Given the description of an element on the screen output the (x, y) to click on. 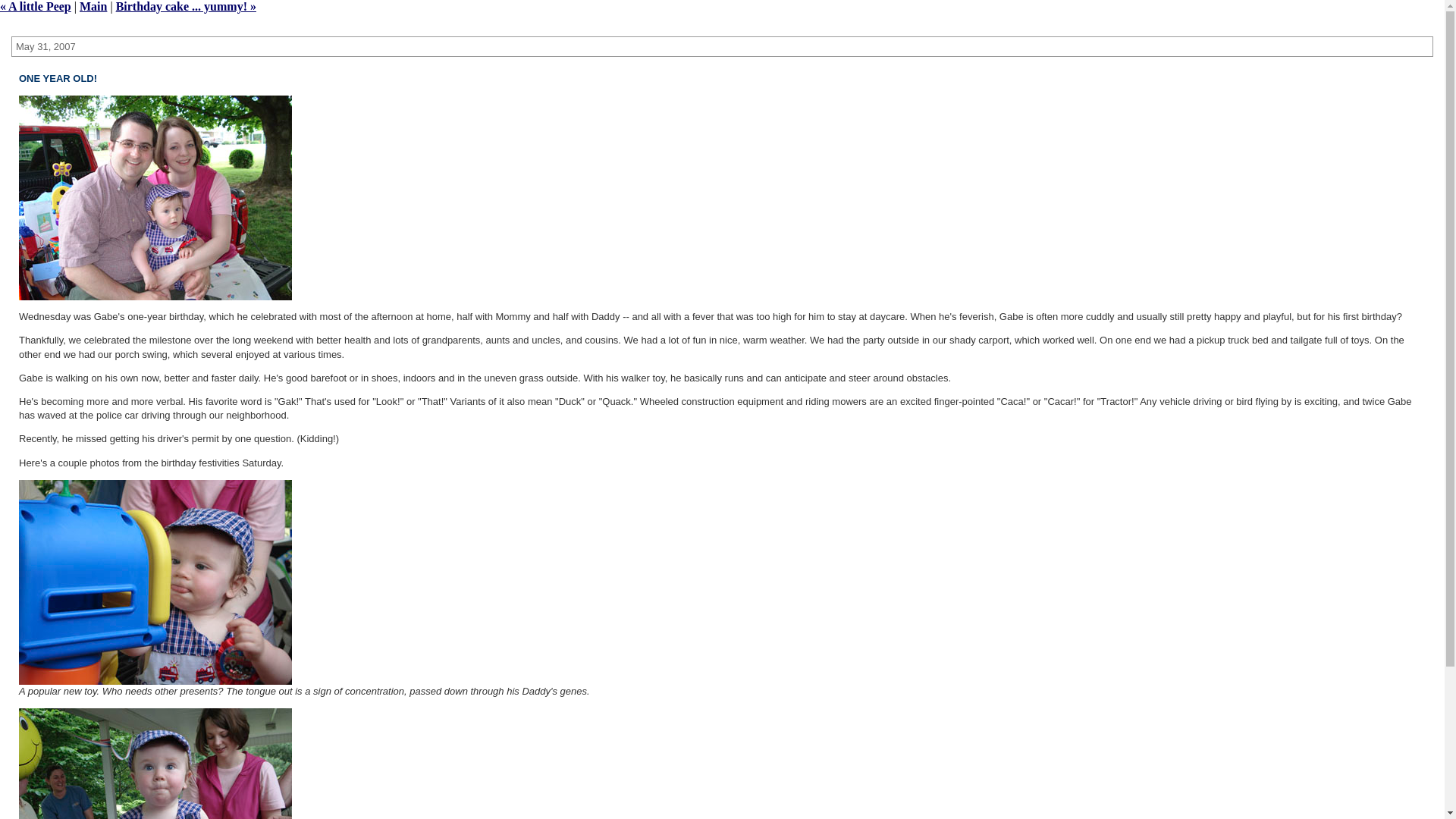
Main (93, 6)
